Given the description of an element on the screen output the (x, y) to click on. 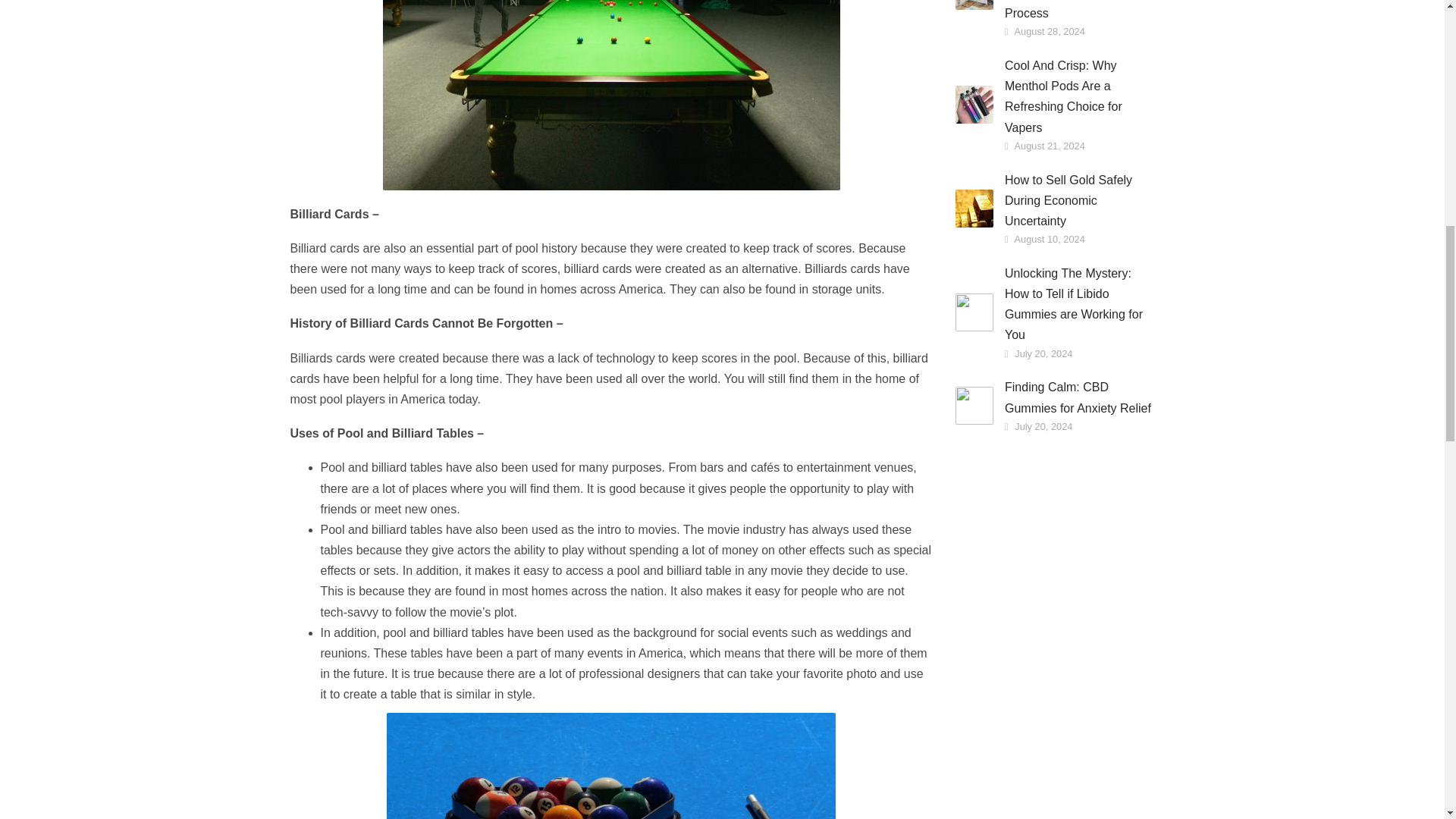
How to Sell Gold Safely During Economic Uncertainty (1079, 200)
Finding Calm: CBD Gummies for Anxiety Relief (1079, 396)
